Given the description of an element on the screen output the (x, y) to click on. 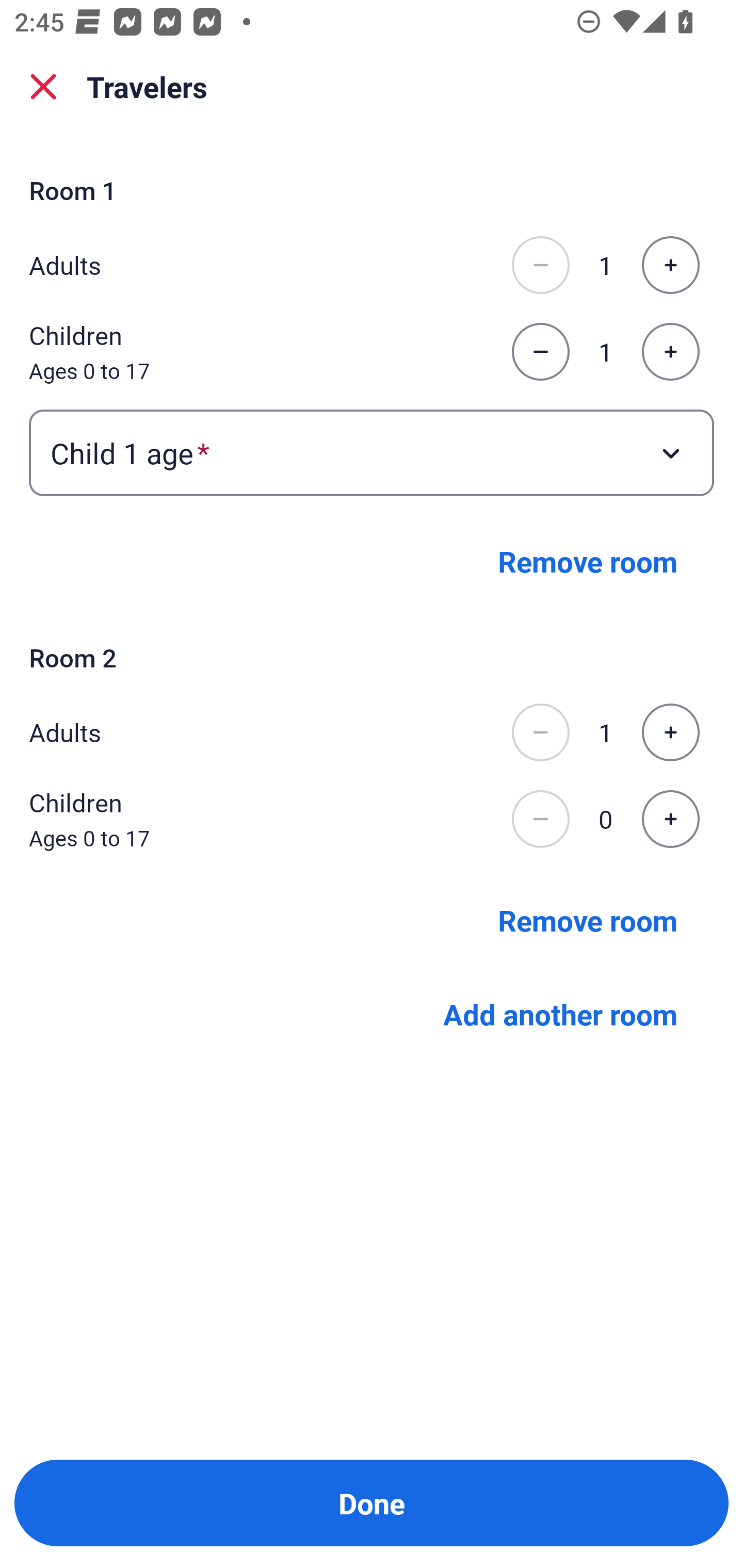
close (43, 86)
Decrease the number of adults (540, 264)
Increase the number of adults (670, 264)
Decrease the number of children (540, 351)
Increase the number of children (670, 351)
Child 1 age required Button (371, 452)
Remove room (588, 561)
Decrease the number of adults (540, 732)
Increase the number of adults (670, 732)
Decrease the number of children (540, 819)
Increase the number of children (670, 819)
Remove room (588, 919)
Add another room (560, 1013)
Done (371, 1502)
